Given the description of an element on the screen output the (x, y) to click on. 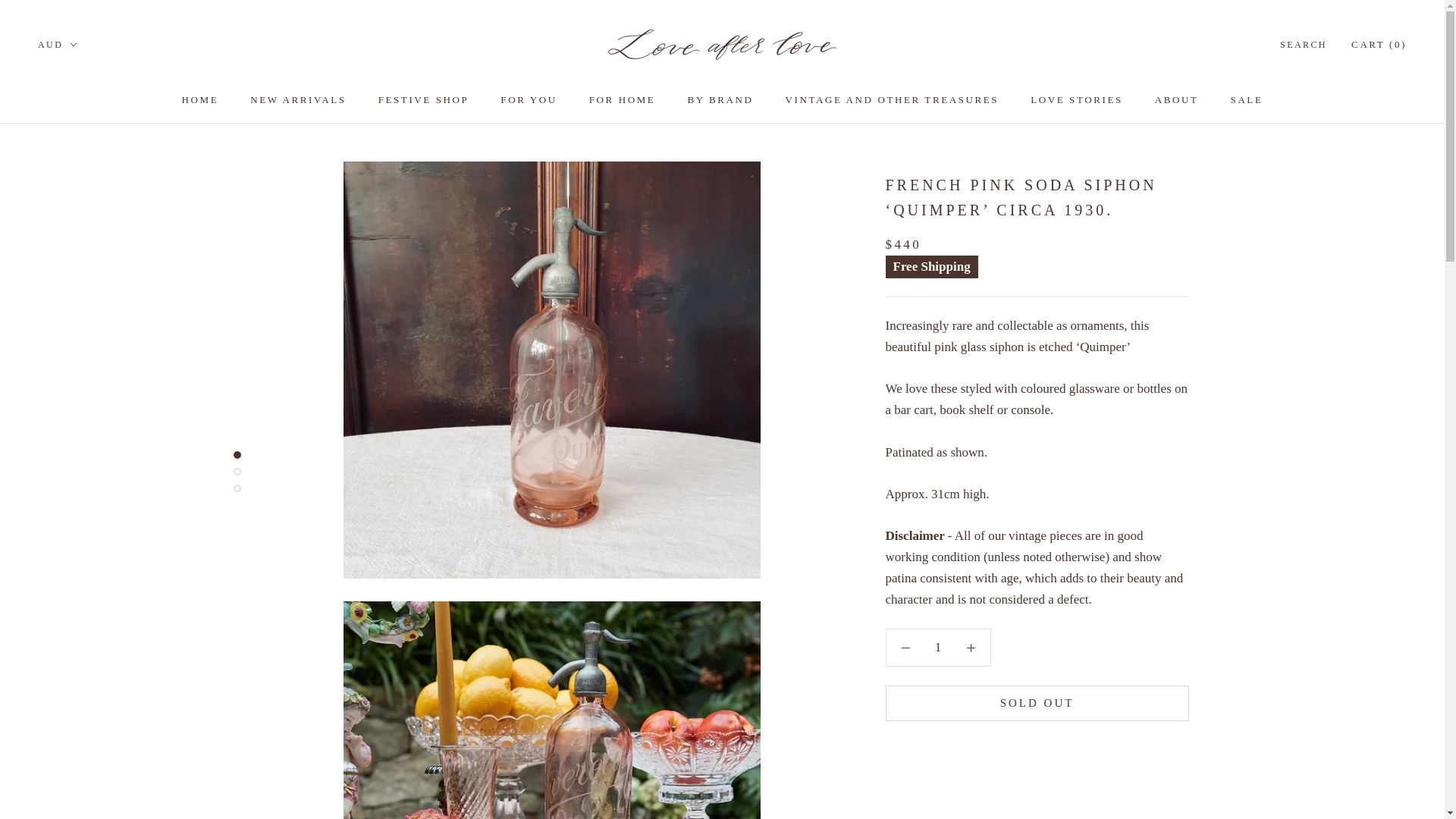
SALE
SALE Element type: text (1246, 99)
FOR HOME Element type: text (622, 99)
CART (0) Element type: text (1378, 44)
LOVE STORIES
LOVE STORIES Element type: text (1076, 99)
HOME
HOME Element type: text (200, 99)
BY BRAND Element type: text (720, 99)
ABOUT
ABOUT Element type: text (1176, 99)
FOR YOU Element type: text (528, 99)
NEW ARRIVALS
NEW ARRIVALS Element type: text (297, 99)
FESTIVE SHOP
FESTIVE SHOP Element type: text (423, 99)
VINTAGE AND OTHER TREASURES Element type: text (892, 99)
SOLD OUT Element type: text (1037, 703)
SEARCH Element type: text (1303, 45)
